Given the description of an element on the screen output the (x, y) to click on. 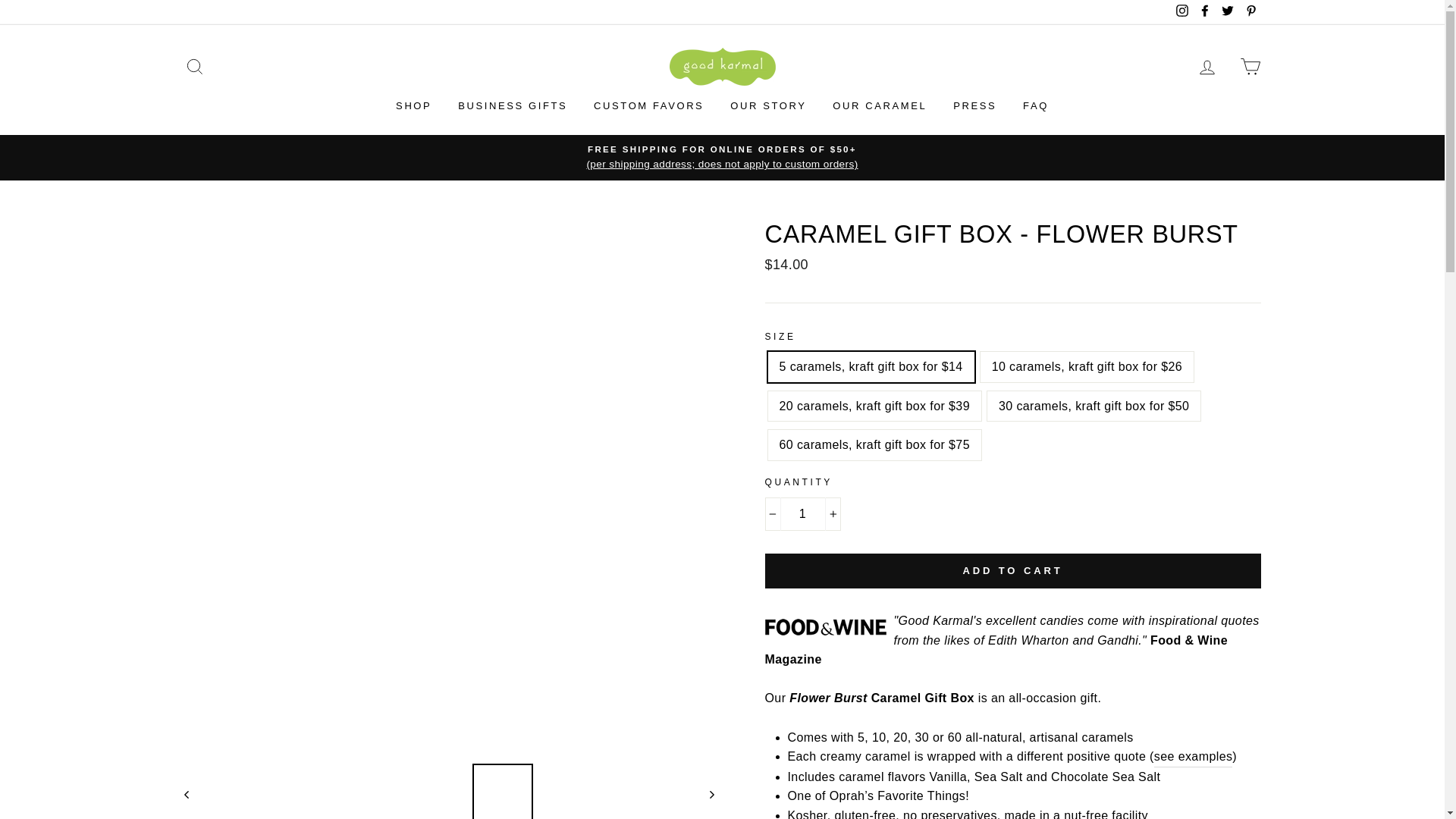
LOG IN (1207, 65)
SEARCH (194, 65)
1 (802, 513)
Quotes on caramels (1193, 756)
